Given the description of an element on the screen output the (x, y) to click on. 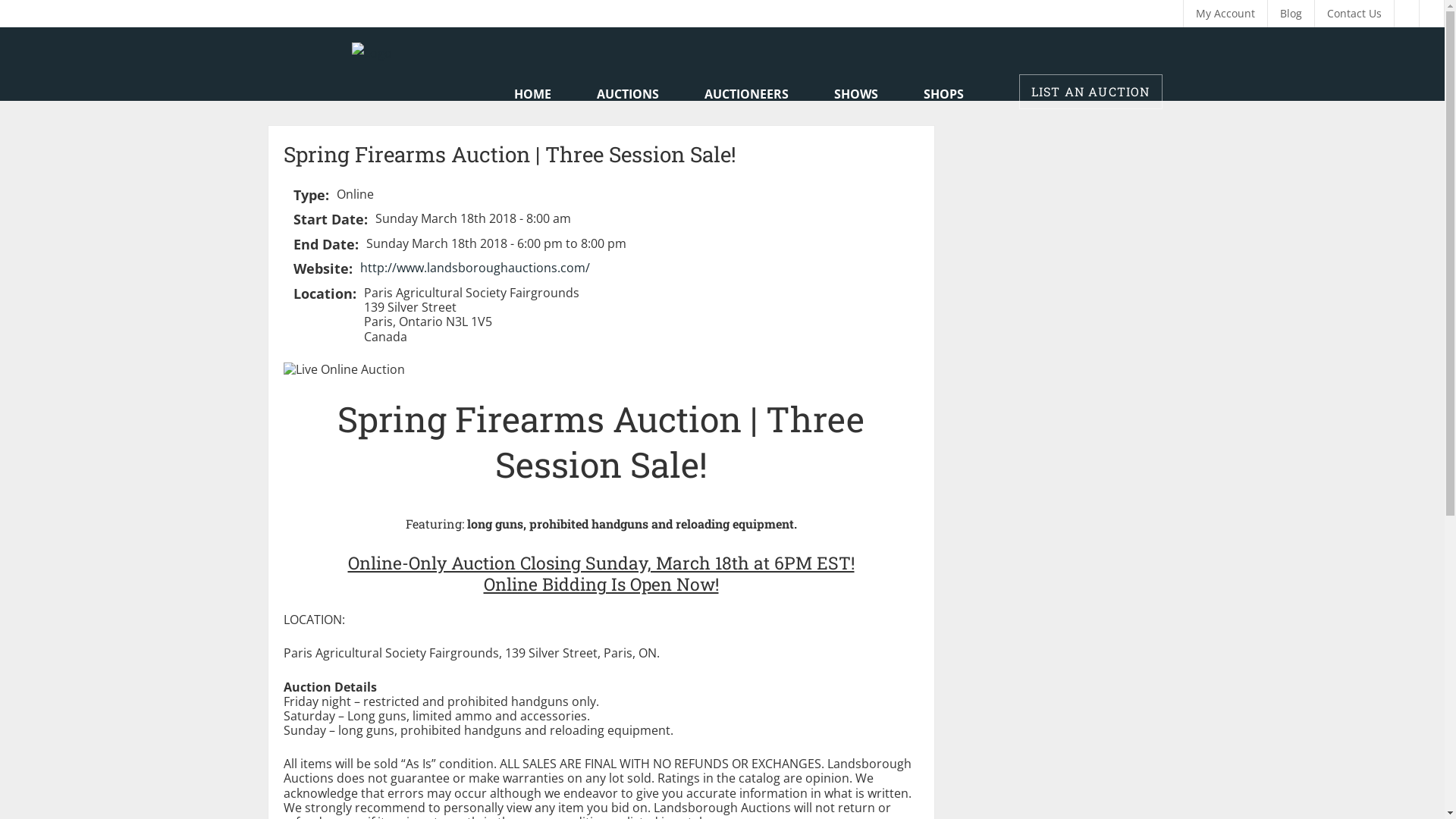
AUCTIONEERS Element type: text (745, 94)
HOME Element type: text (532, 94)
SHOPS Element type: text (943, 94)
AUCTIONS Element type: text (626, 94)
SHOWS Element type: text (855, 94)
Blog Element type: text (1290, 13)
My Account Element type: text (1225, 13)
LIST AN AUCTION Element type: text (1090, 91)
Contact Us Element type: text (1353, 13)
http://www.landsboroughauctions.com/ Element type: text (474, 267)
